Given the description of an element on the screen output the (x, y) to click on. 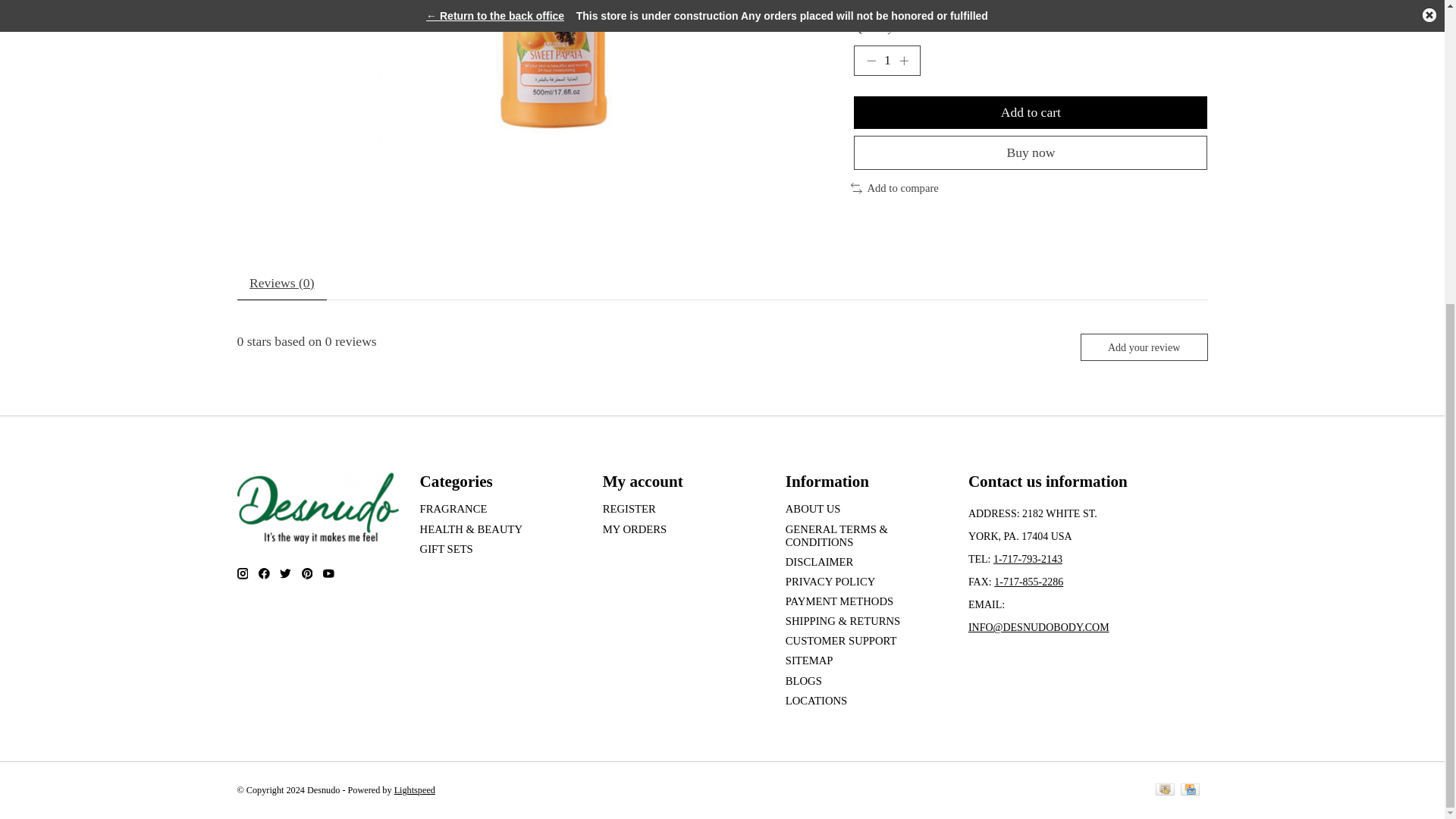
Buy now (1030, 152)
Register (629, 508)
Add to compare (894, 187)
Lightspeed (414, 789)
Locations (816, 700)
Add to cart (1030, 112)
1 (886, 60)
Add your review (1144, 347)
Privacy policy (831, 581)
Payment methods (839, 601)
About us (813, 508)
FRAGRANCE (453, 508)
Sitemap (809, 660)
My orders (634, 529)
Customer support (841, 640)
